Given the description of an element on the screen output the (x, y) to click on. 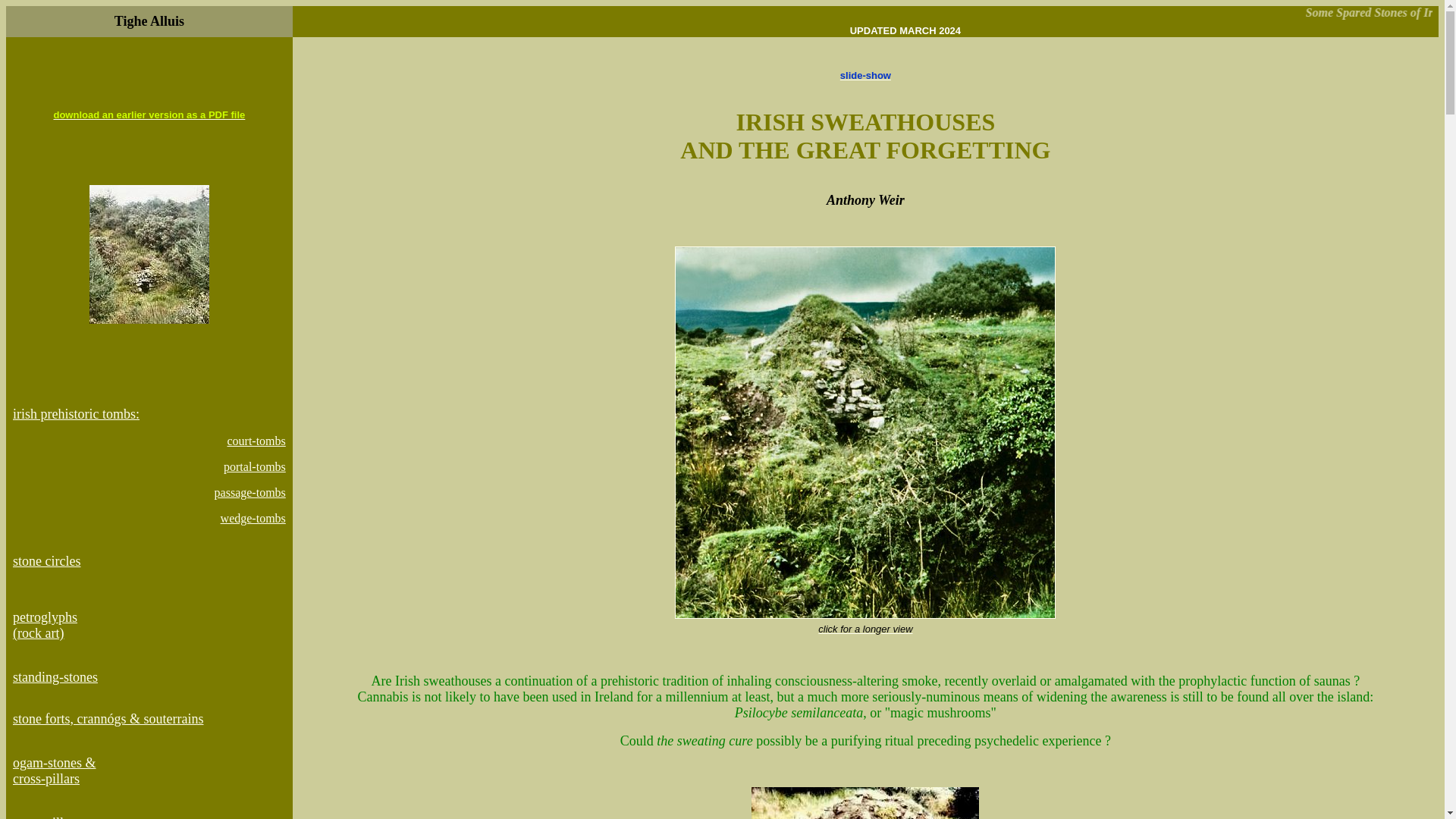
court-tombs (256, 440)
stone circles (46, 560)
irish prehistoric tombs: (76, 421)
standing-stones (55, 676)
download an earlier version as a PDF file (148, 113)
slide-show (865, 75)
click for a longer view (865, 621)
portal-tombs (254, 466)
passage-tombs (249, 492)
petroglyphs (45, 616)
